Given the description of an element on the screen output the (x, y) to click on. 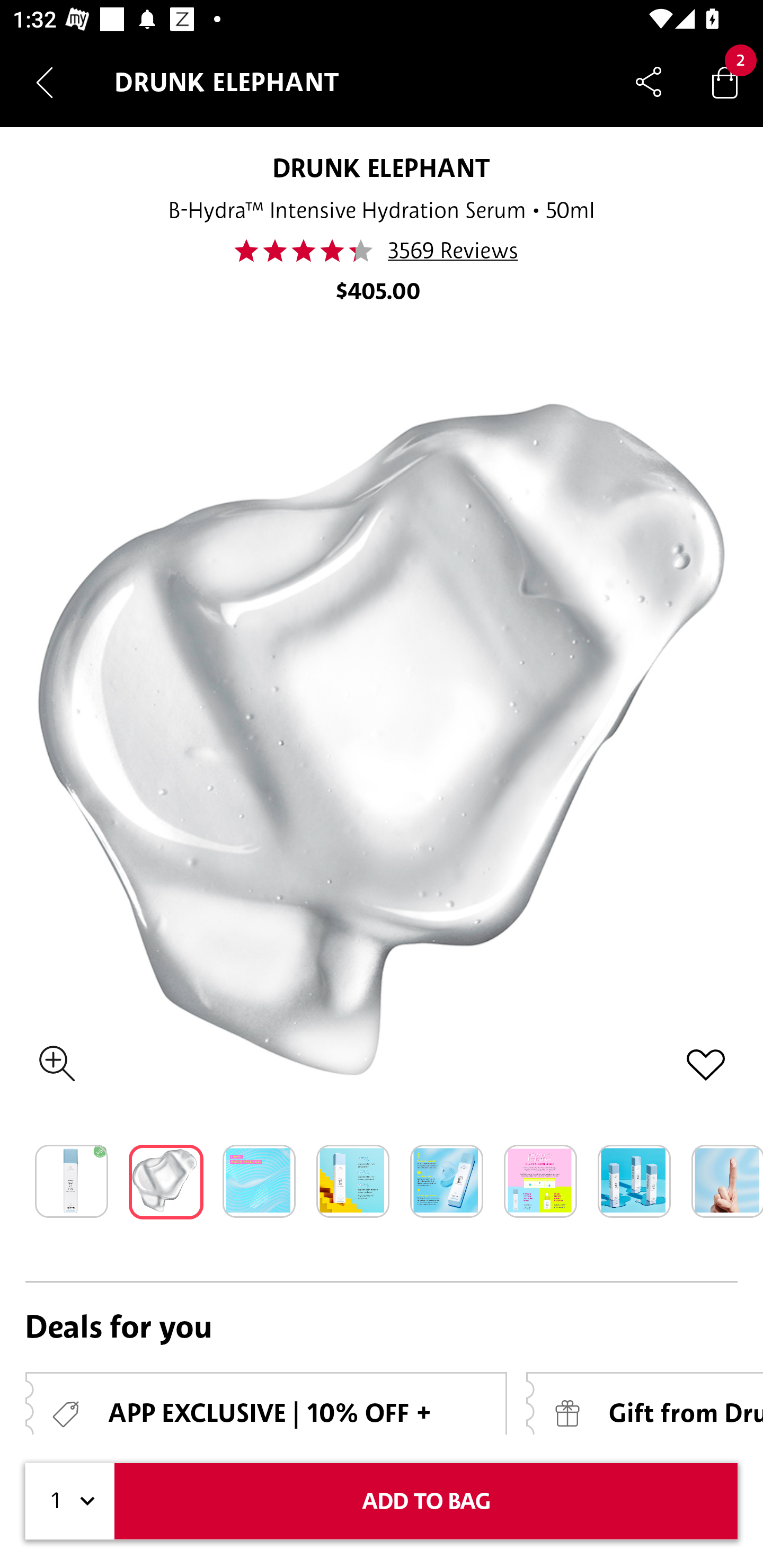
Navigate up (44, 82)
Share (648, 81)
Bag (724, 81)
DRUNK ELEPHANT (381, 167)
43.0 3569 Reviews (381, 250)
1 (69, 1500)
ADD TO BAG (425, 1500)
